Given the description of an element on the screen output the (x, y) to click on. 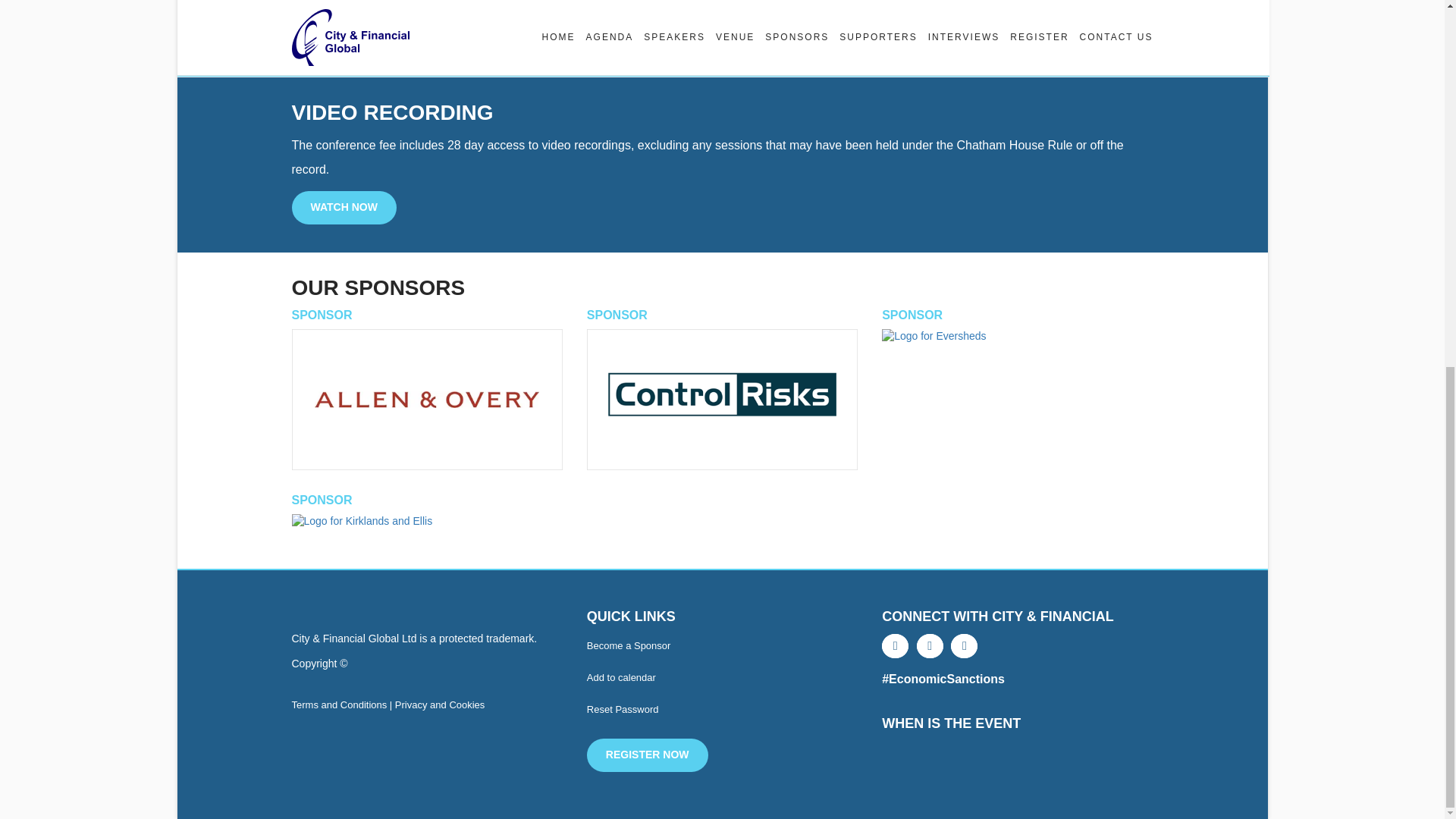
Terms and Conditions (339, 704)
WATCH NOW (343, 207)
Become a Sponsor (628, 645)
Privacy and Cookies (439, 704)
Add to calendar (621, 677)
REGISTER NOW (646, 755)
Add To Calendar (621, 677)
Reset Password (622, 708)
